Given the description of an element on the screen output the (x, y) to click on. 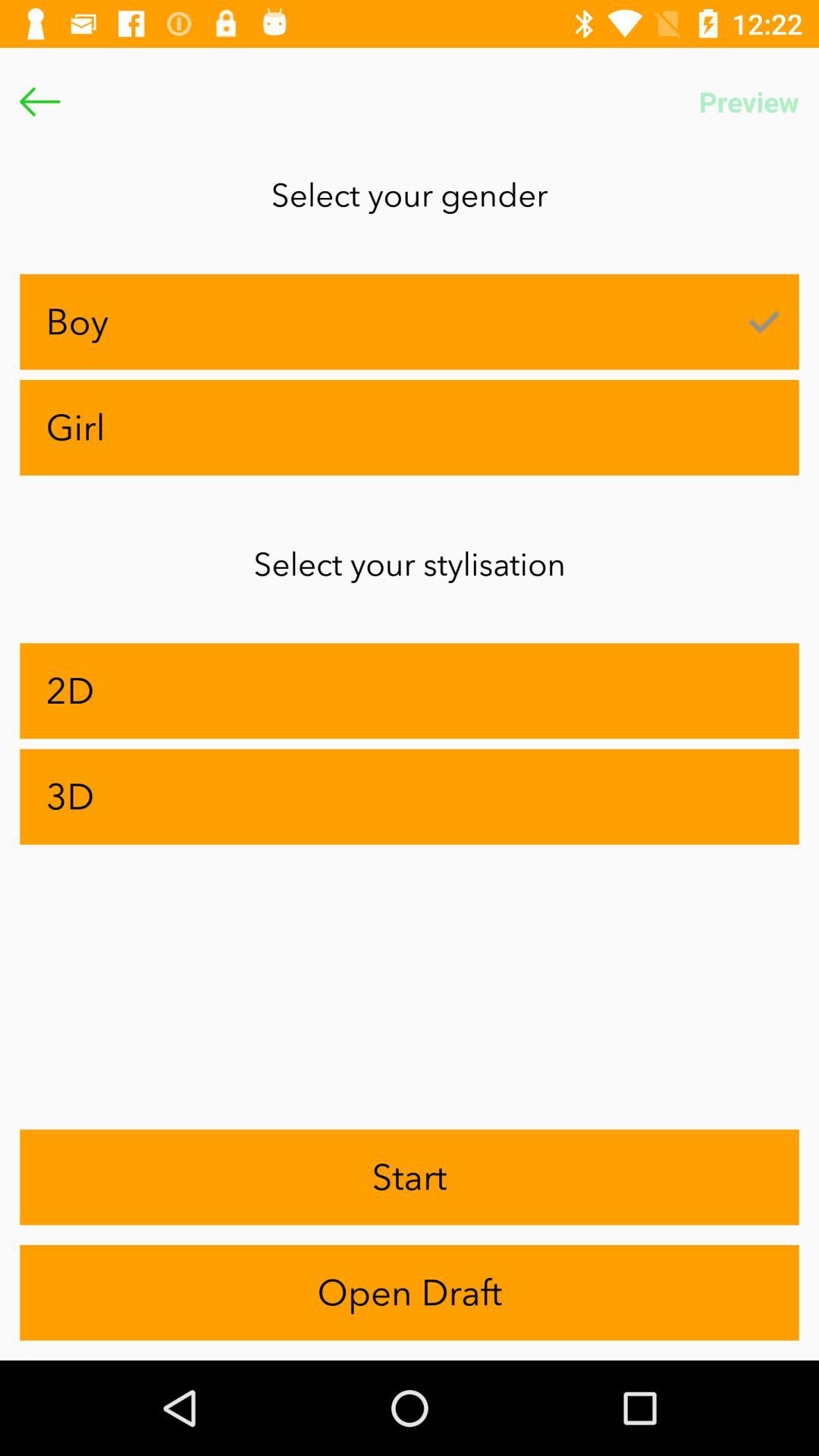
go back (40, 101)
